Given the description of an element on the screen output the (x, y) to click on. 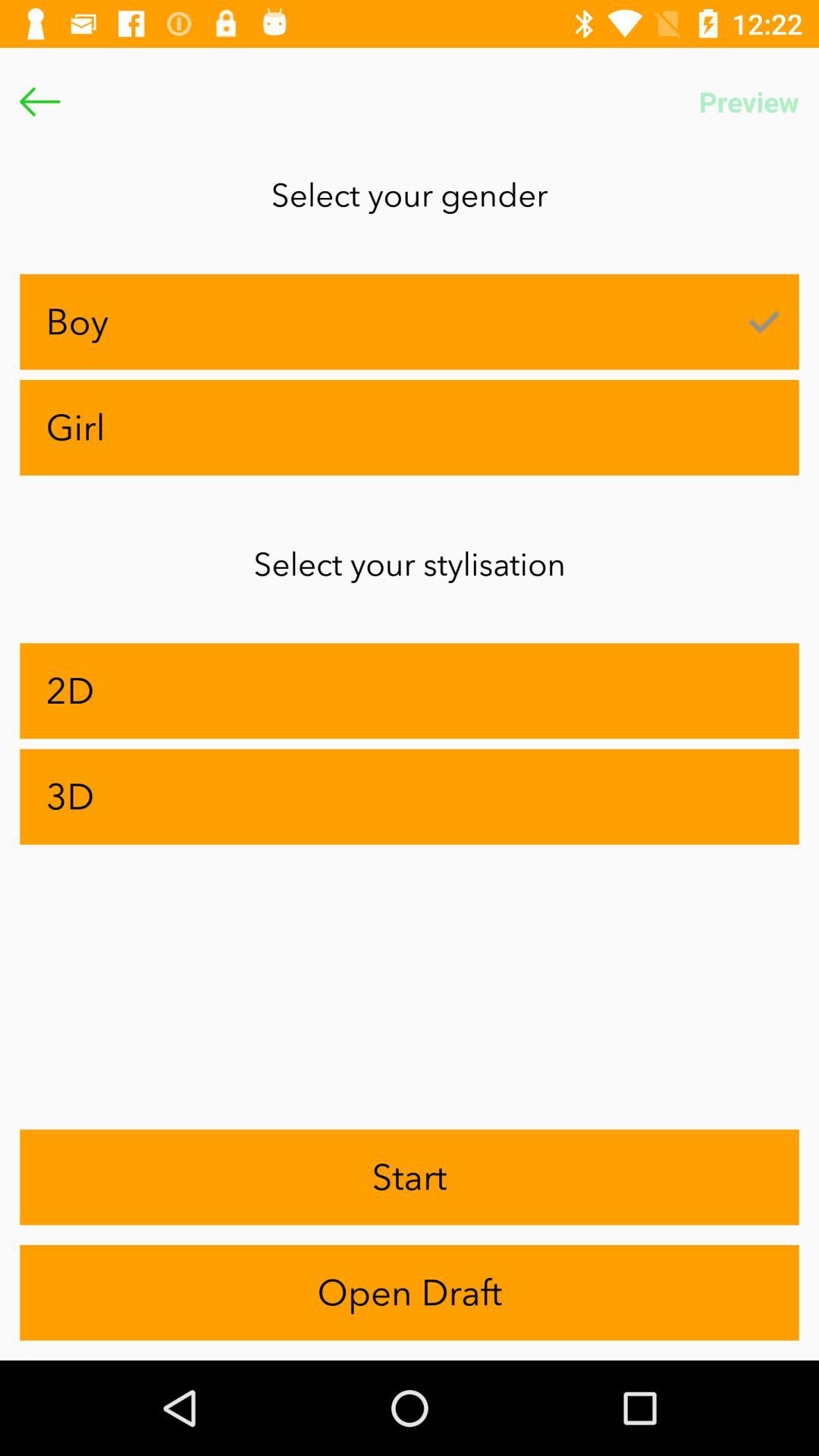
go back (40, 101)
